Given the description of an element on the screen output the (x, y) to click on. 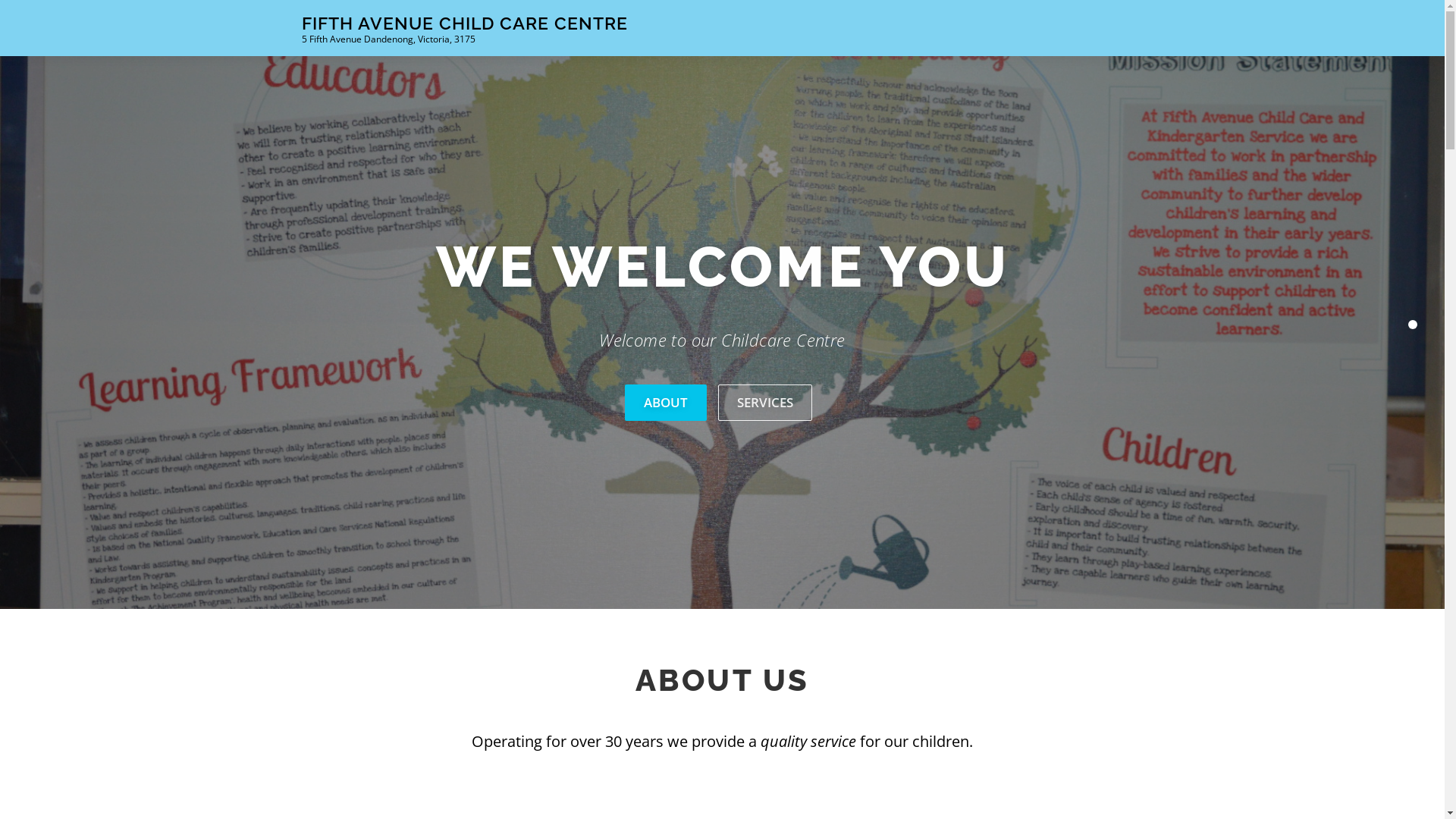
ABOUT Element type: text (665, 402)
Skip to content Element type: text (37, 9)
SERVICES Element type: text (765, 402)
FIFTH AVENUE CHILD CARE CENTRE Element type: text (464, 22)
